Given the description of an element on the screen output the (x, y) to click on. 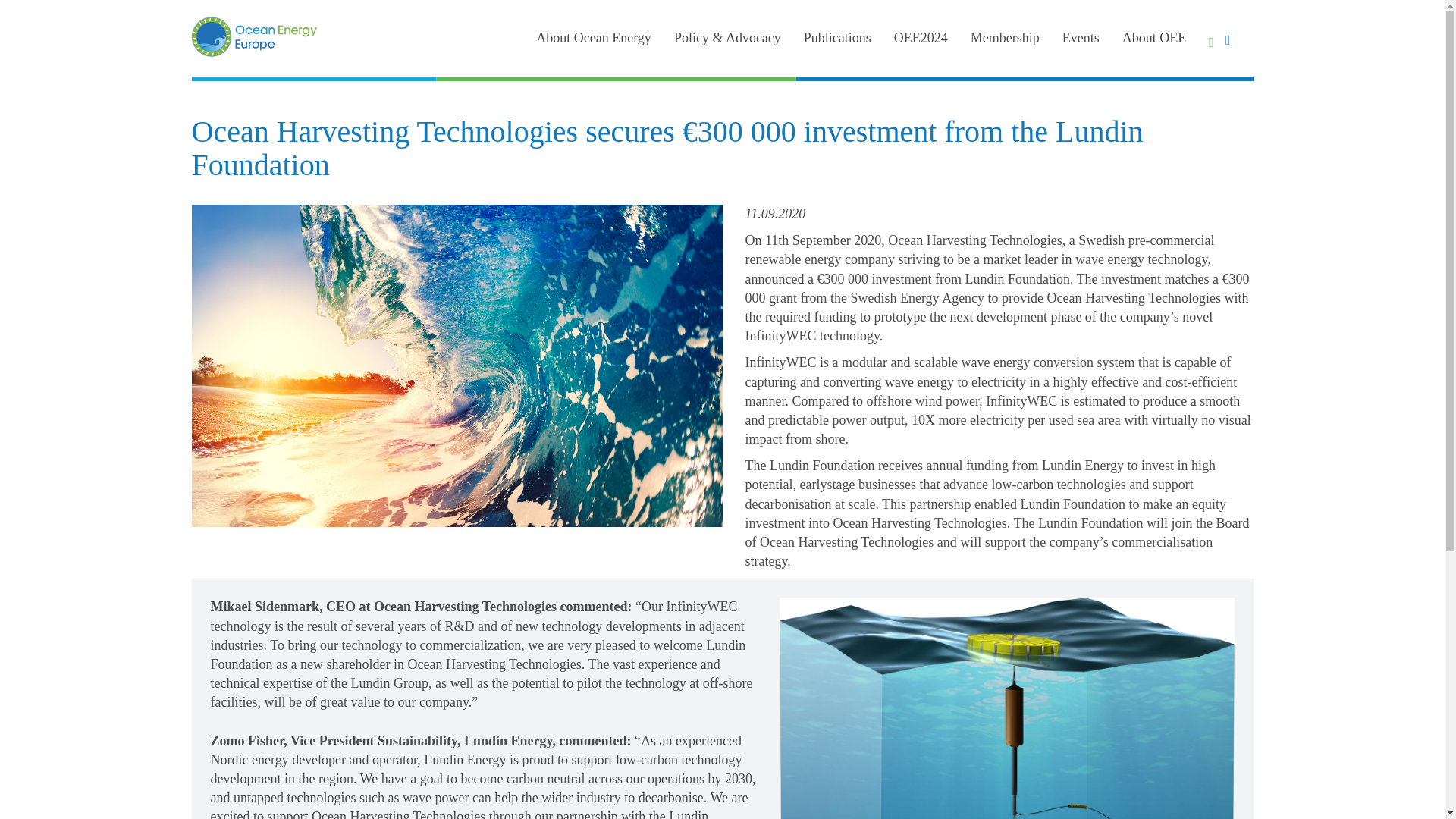
Publications (836, 38)
Membership (1005, 38)
About Ocean Energy (592, 38)
